Given the description of an element on the screen output the (x, y) to click on. 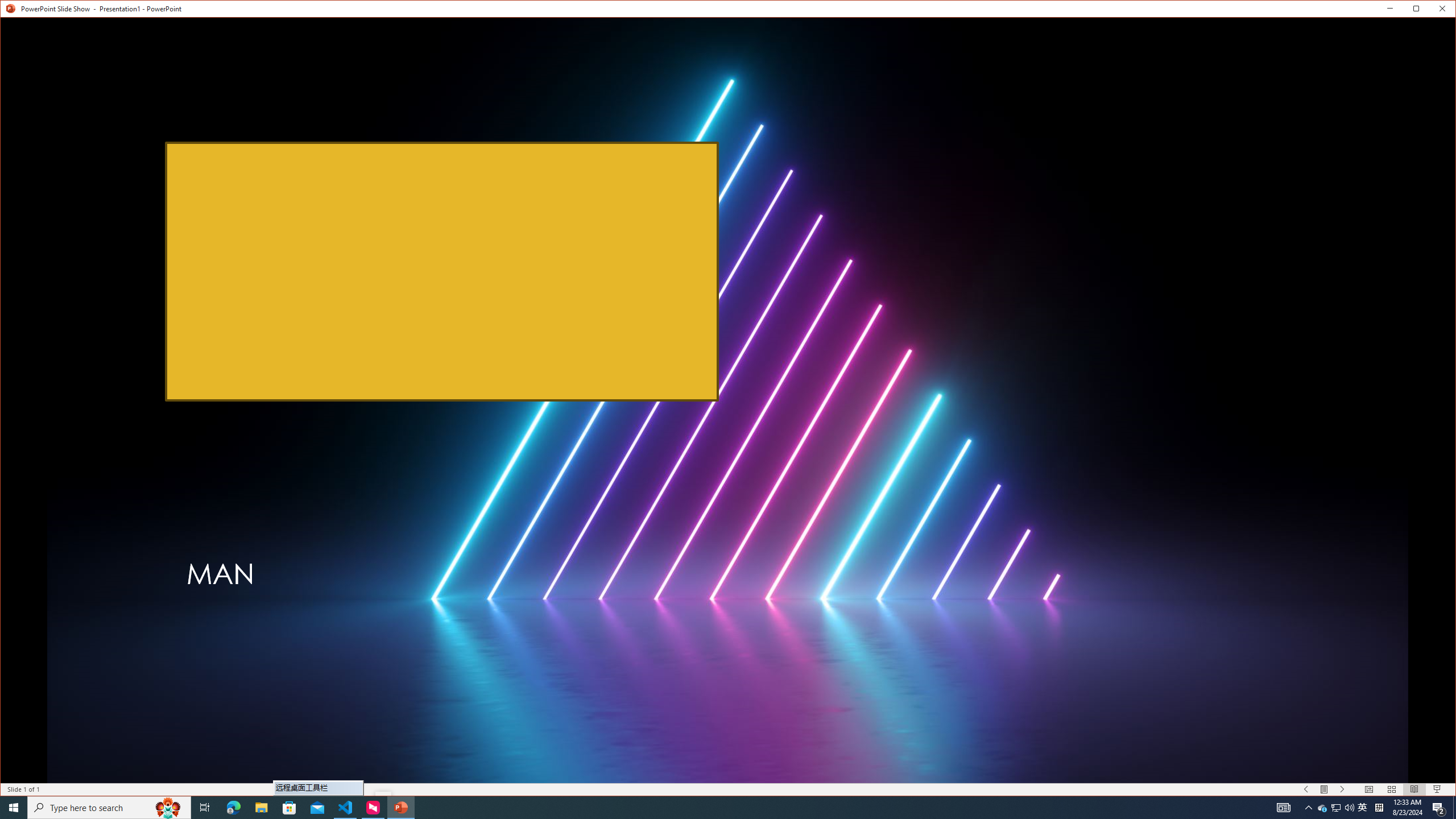
Slide Show Next On (1342, 789)
